Given the description of an element on the screen output the (x, y) to click on. 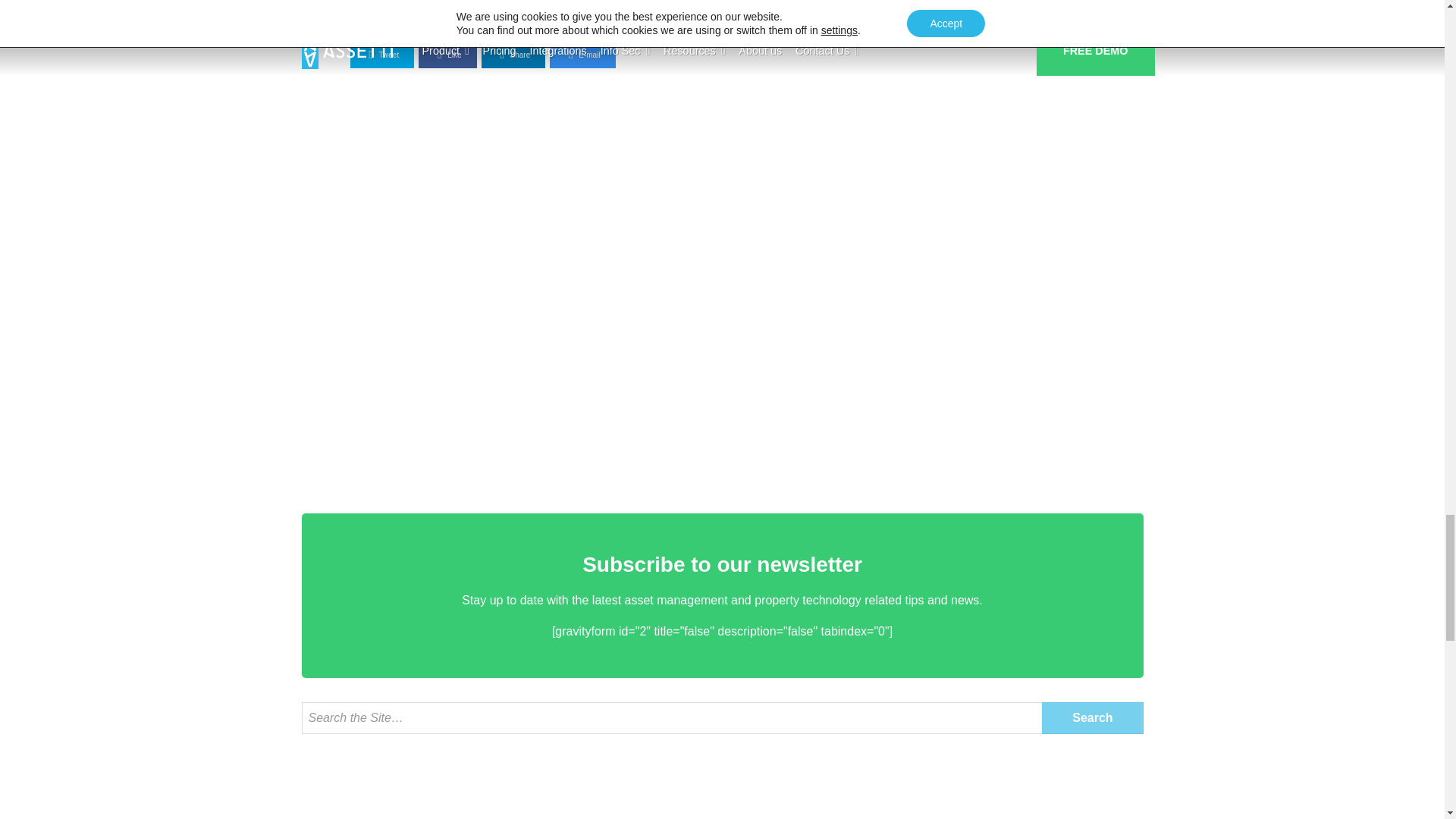
Search (1092, 717)
